Given the description of an element on the screen output the (x, y) to click on. 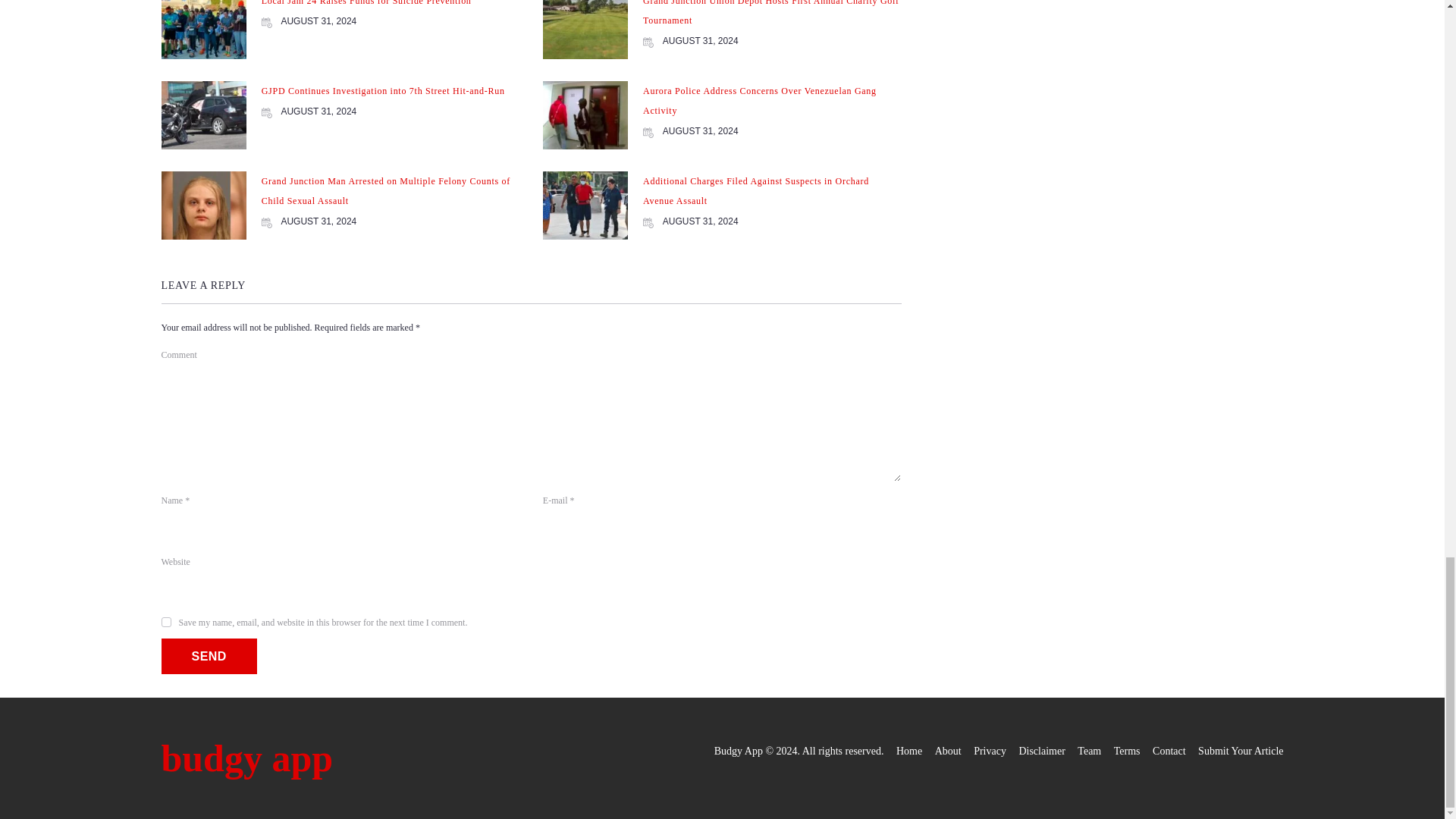
Send (208, 656)
Aurora Police Address Concerns Over Venezuelan Gang Activity (759, 100)
Local Jam 24 Raises Funds for Suicide Prevention (366, 2)
GJPD Continues Investigation into 7th Street Hit-and-Run (383, 90)
